Given the description of an element on the screen output the (x, y) to click on. 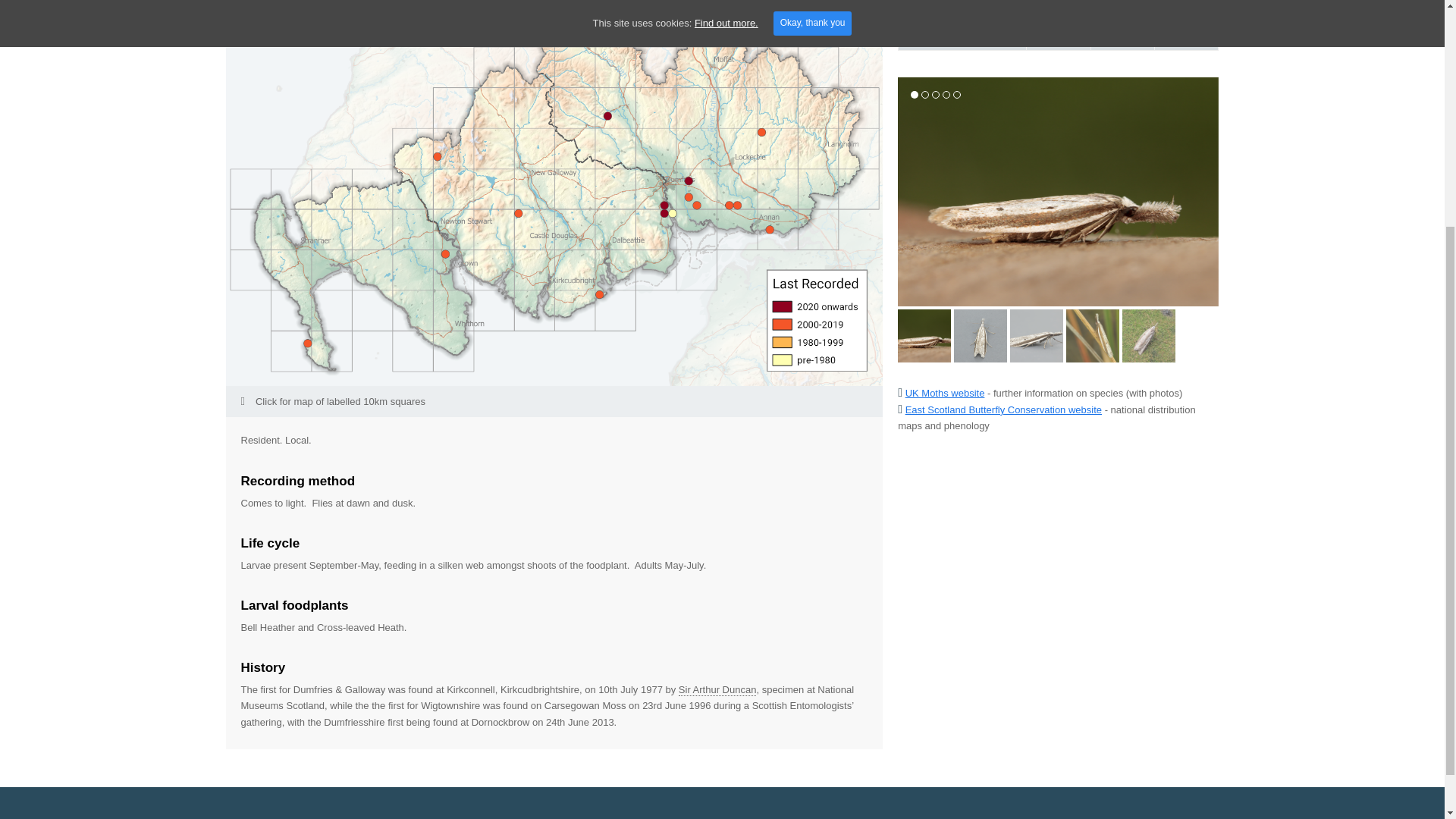
Click for map of labelled 10km squares (554, 400)
